Given the description of an element on the screen output the (x, y) to click on. 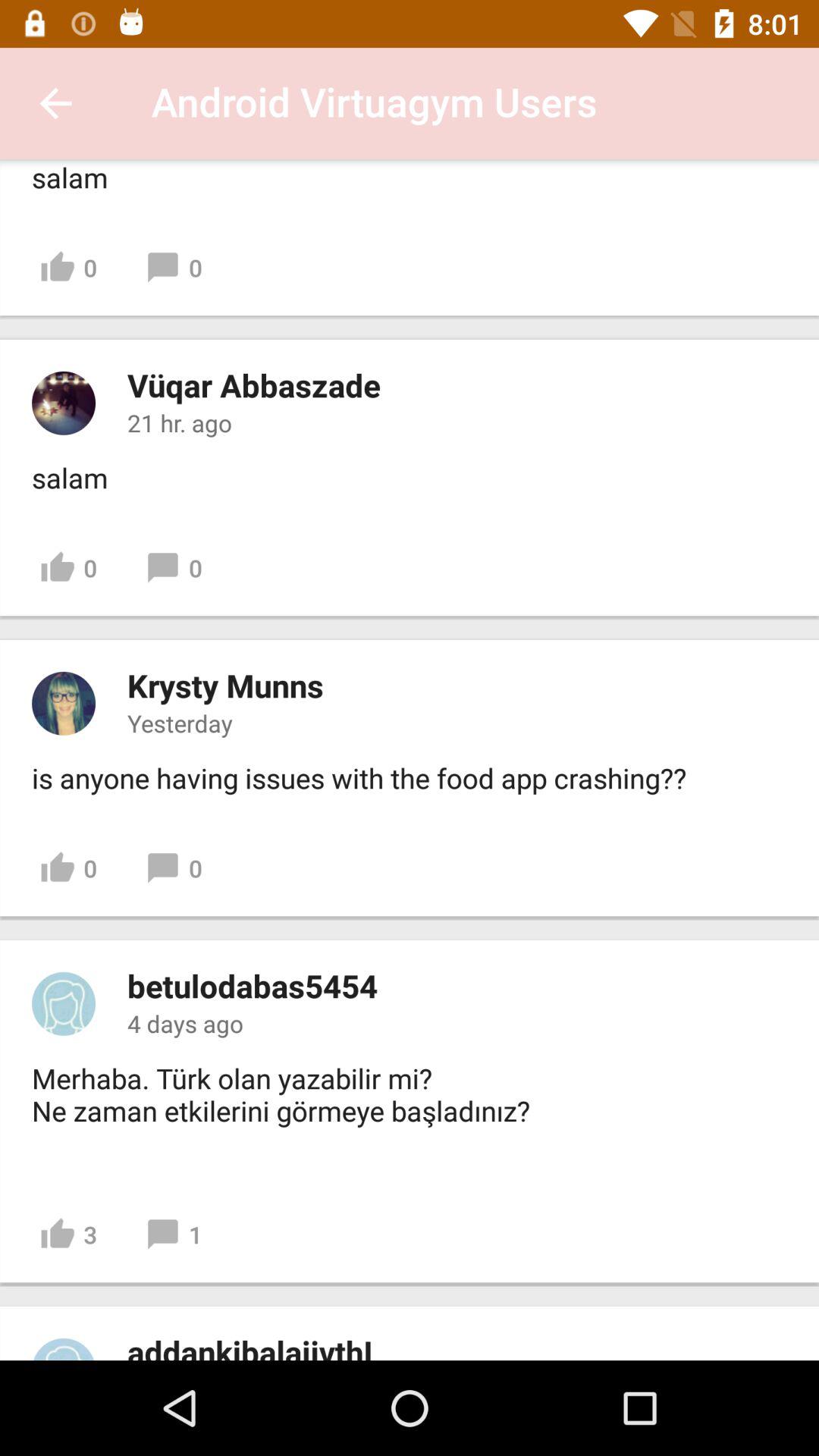
view avatar (63, 703)
